Given the description of an element on the screen output the (x, y) to click on. 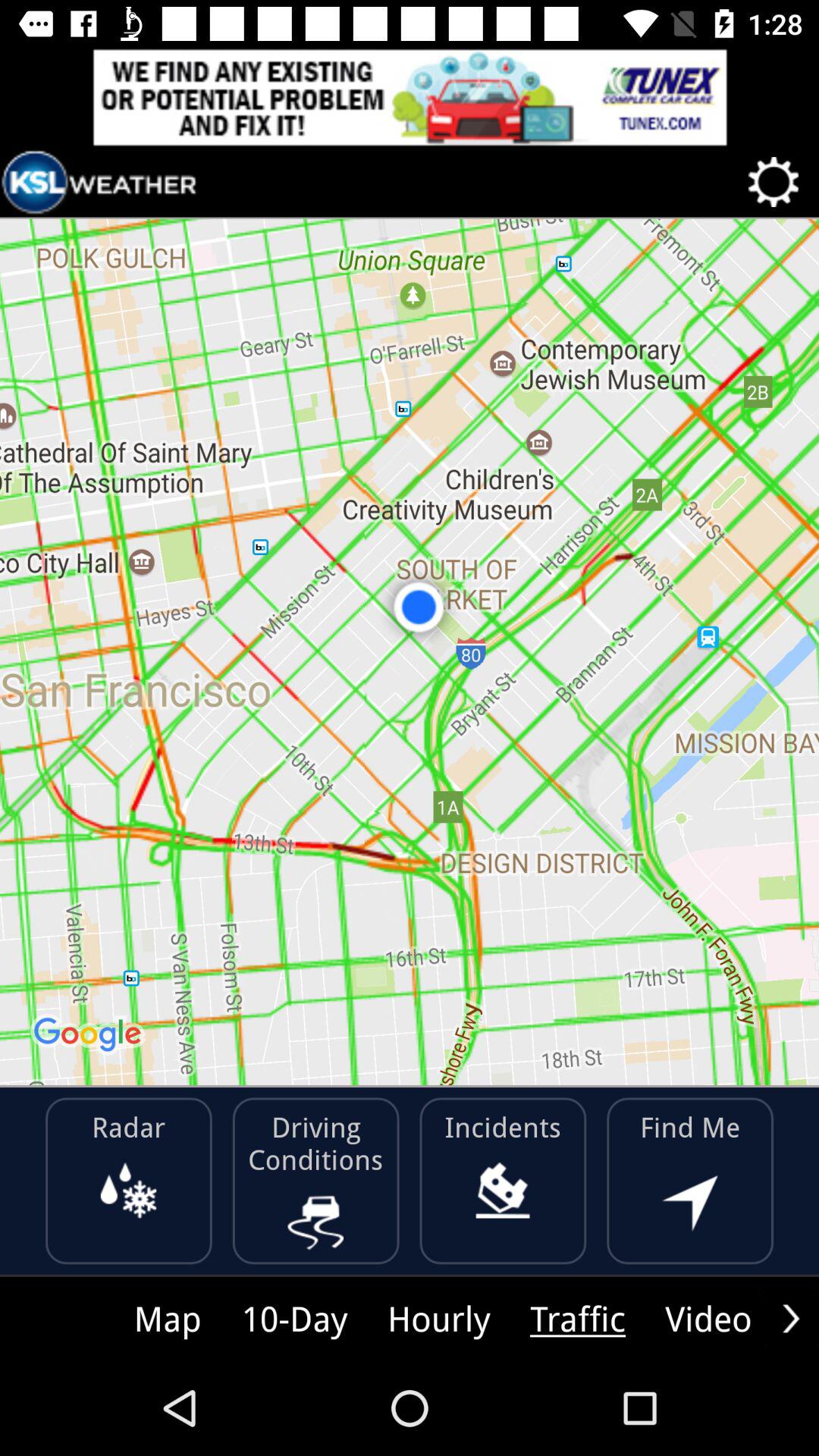
pulls up advertisement (409, 97)
